Given the description of an element on the screen output the (x, y) to click on. 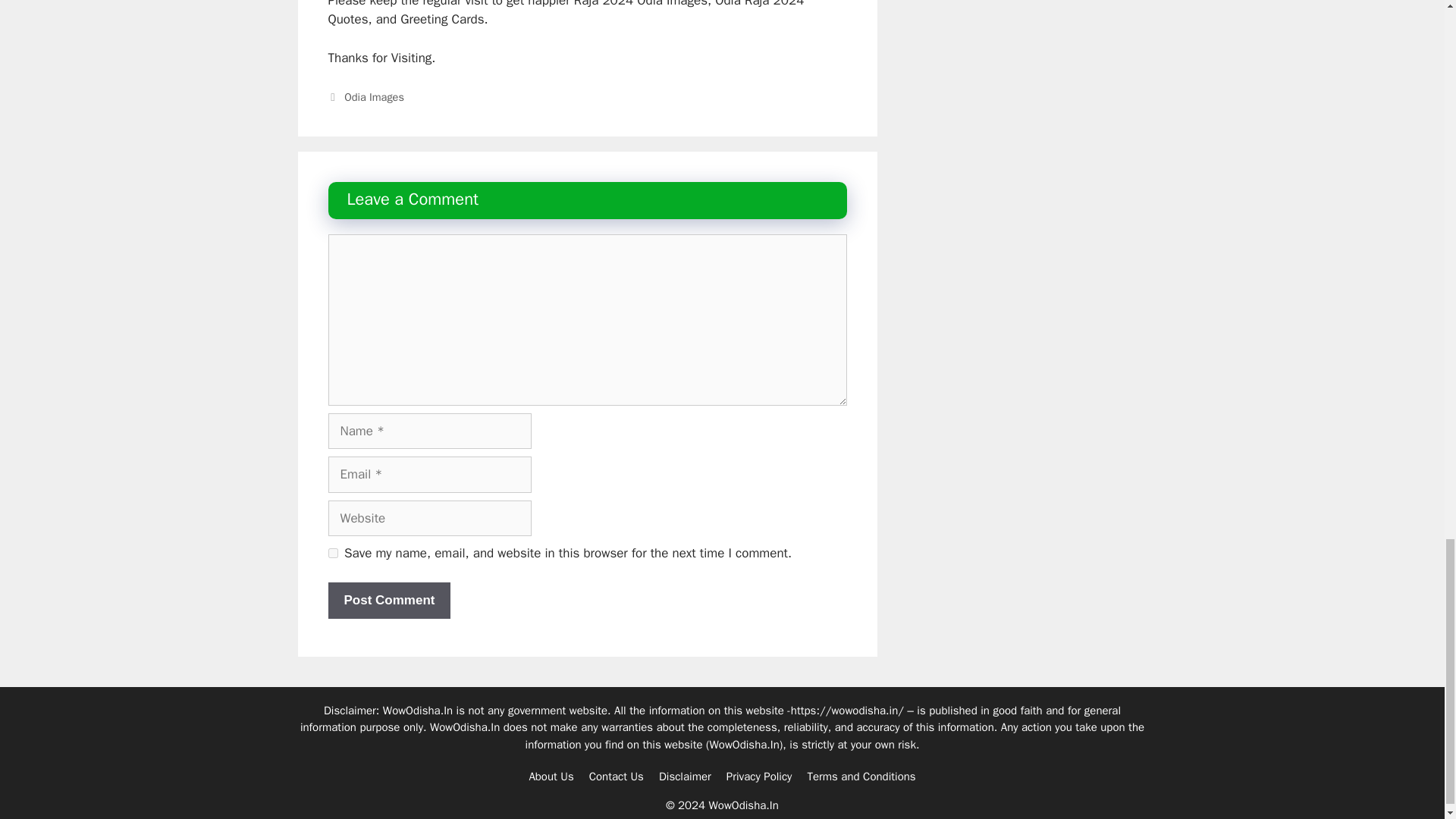
Privacy Policy (759, 775)
WowOdisha.In (744, 744)
Post Comment (388, 600)
Terms and Conditions (860, 775)
Post Comment (388, 600)
Disclaimer (685, 775)
yes (332, 552)
About Us (550, 775)
Odia Images (373, 97)
Contact Us (616, 775)
